Given the description of an element on the screen output the (x, y) to click on. 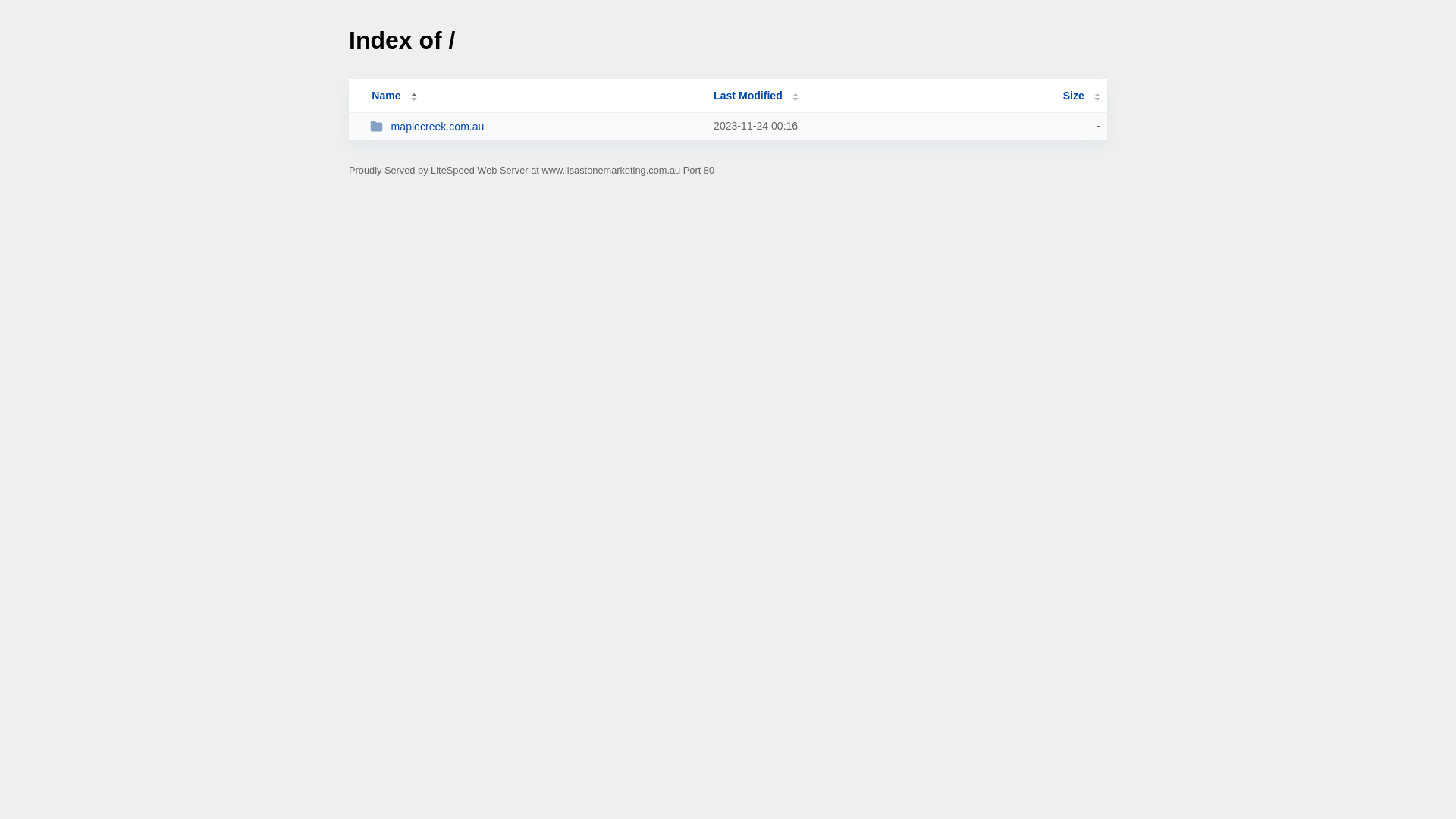
Name Element type: text (385, 95)
maplecreek.com.au Element type: text (534, 125)
Size Element type: text (1081, 95)
Last Modified Element type: text (755, 95)
